Given the description of an element on the screen output the (x, y) to click on. 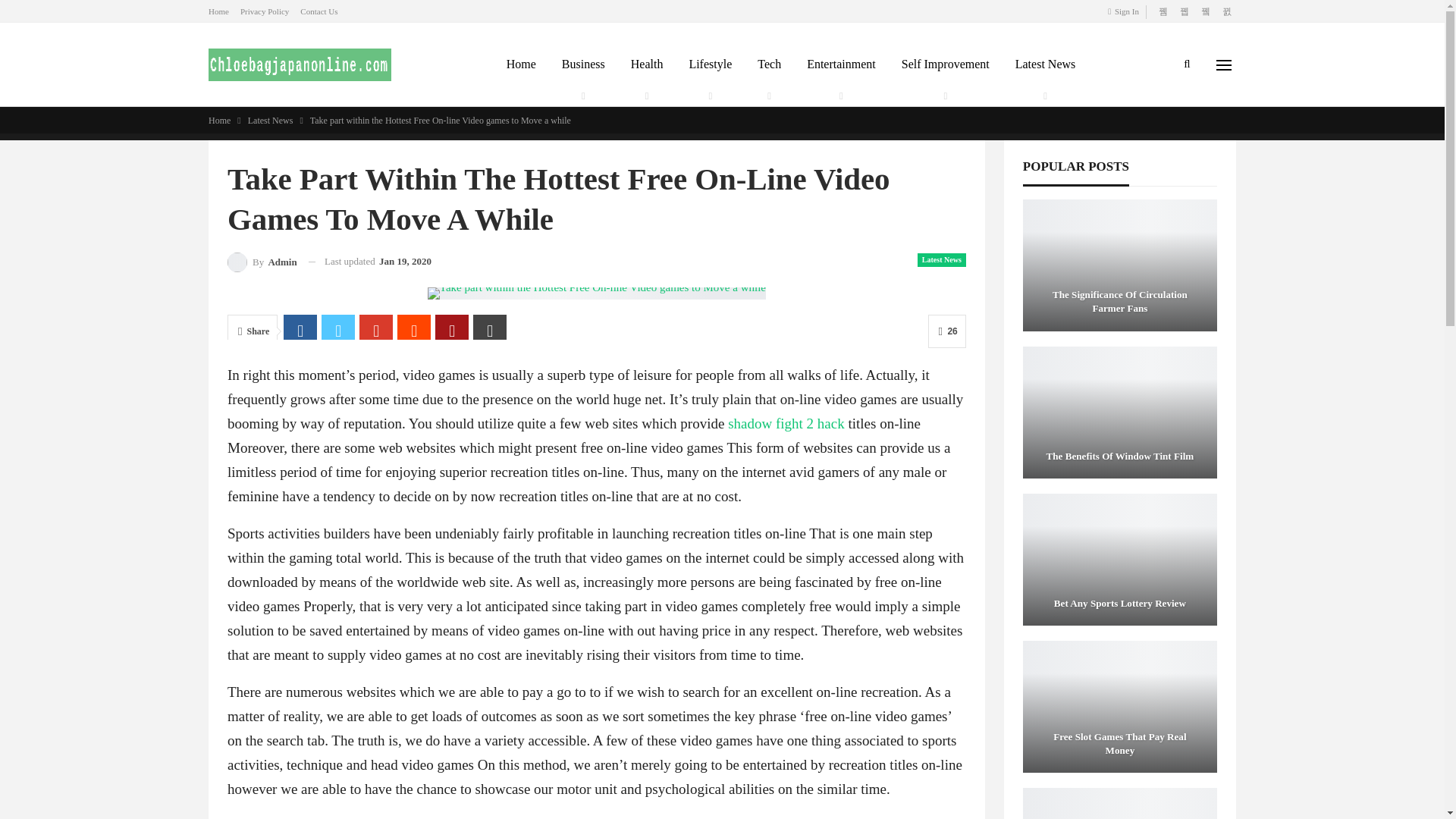
Home (218, 10)
Free Slot Games That Pay Real Money (1120, 706)
Privacy Policy (264, 10)
Events in Barcelona (1120, 803)
The significance of Circulation Farmer Fans (1120, 265)
Sign In (1126, 11)
The Benefits of Window Tint Film (1120, 412)
Bet Any Sports Lottery Review (1120, 559)
Browse Author Articles (262, 261)
Contact Us (318, 10)
